Given the description of an element on the screen output the (x, y) to click on. 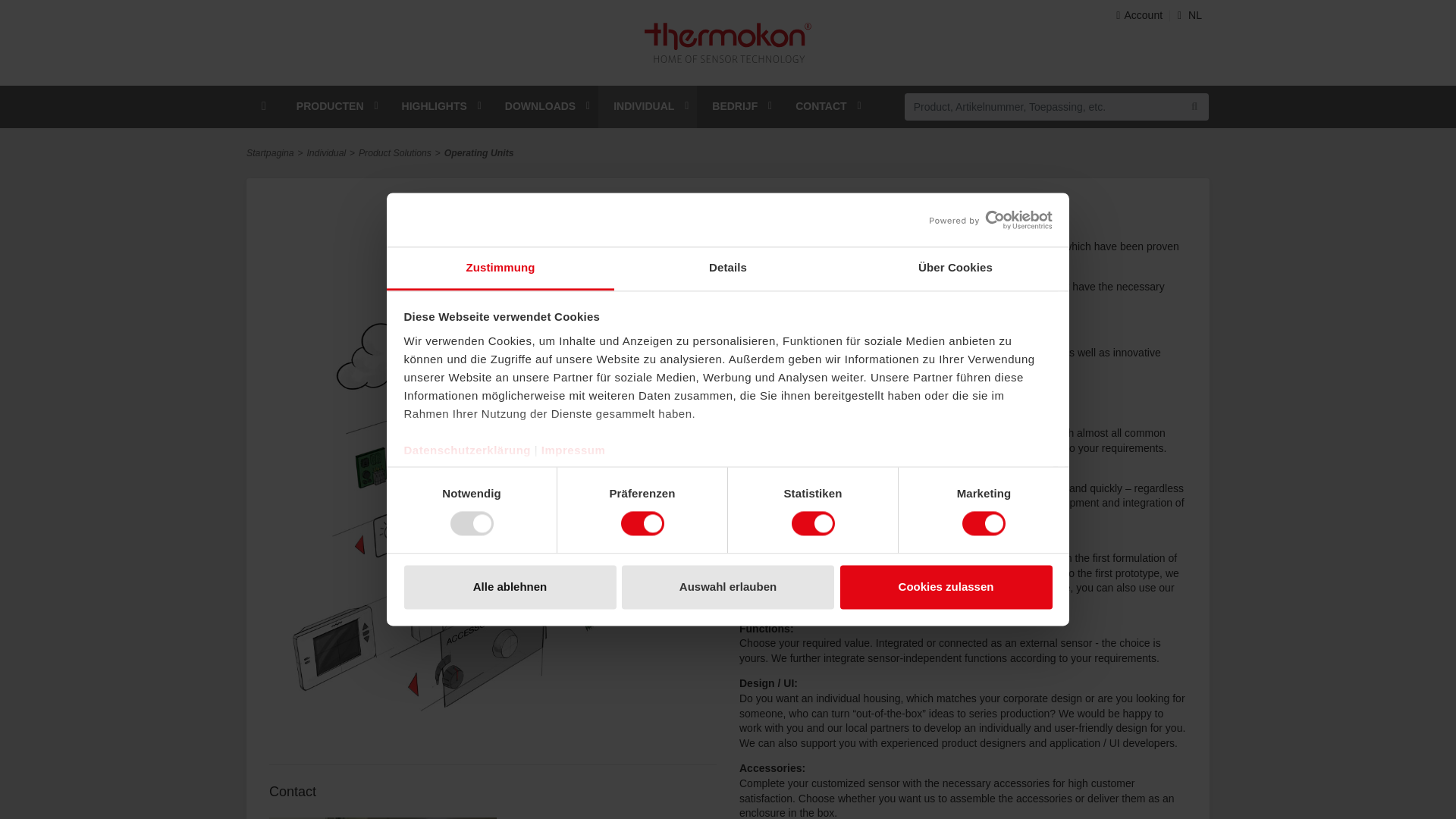
Details (727, 268)
Impressum (573, 449)
Impressum (573, 449)
Zustimmung (500, 268)
